Given the description of an element on the screen output the (x, y) to click on. 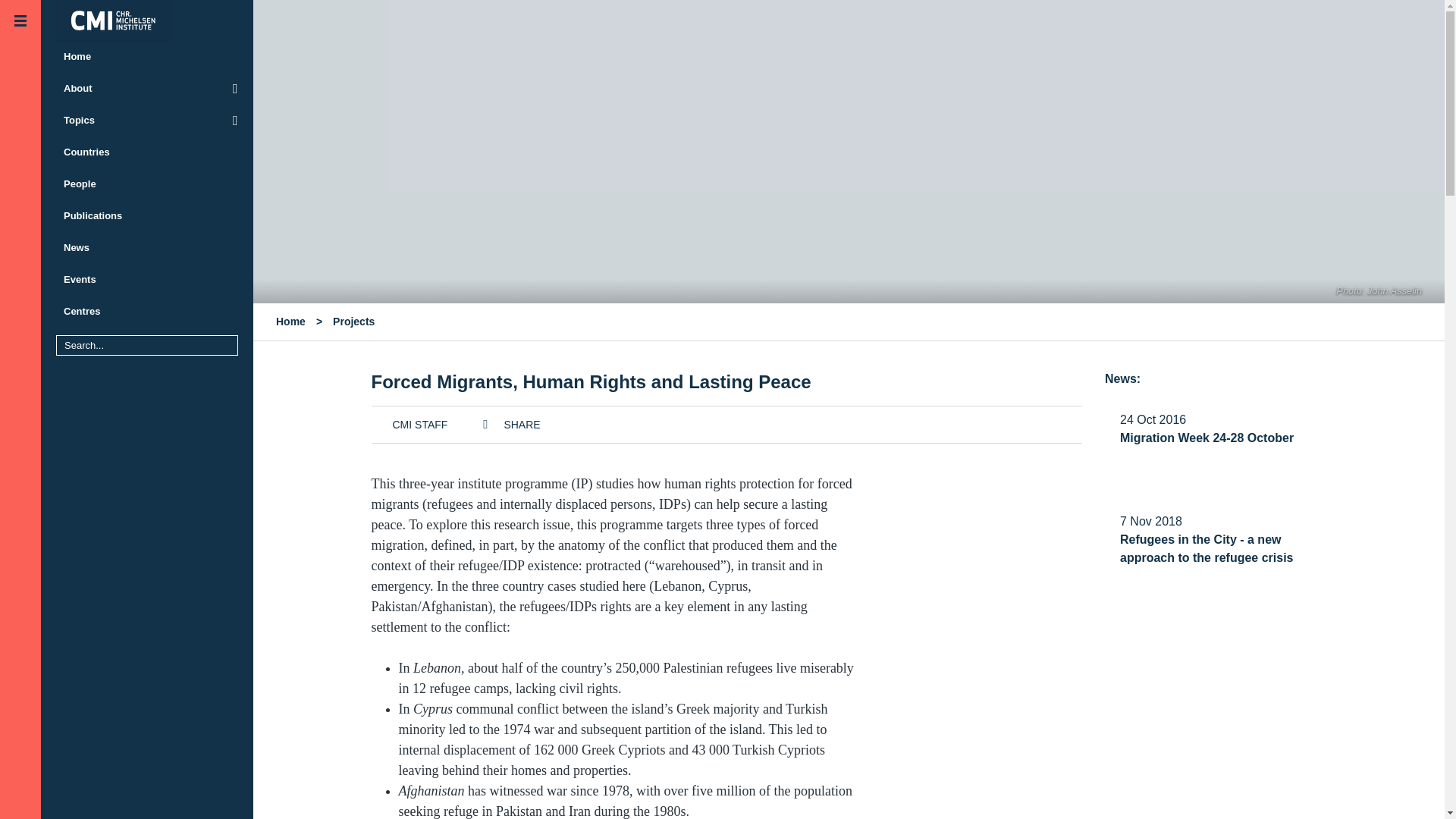
Publications (146, 215)
People (146, 183)
CMI STAFF (409, 423)
Home (146, 56)
Topics (146, 120)
Home (290, 321)
About (146, 88)
Topics (146, 120)
Centres (146, 311)
